Given the description of an element on the screen output the (x, y) to click on. 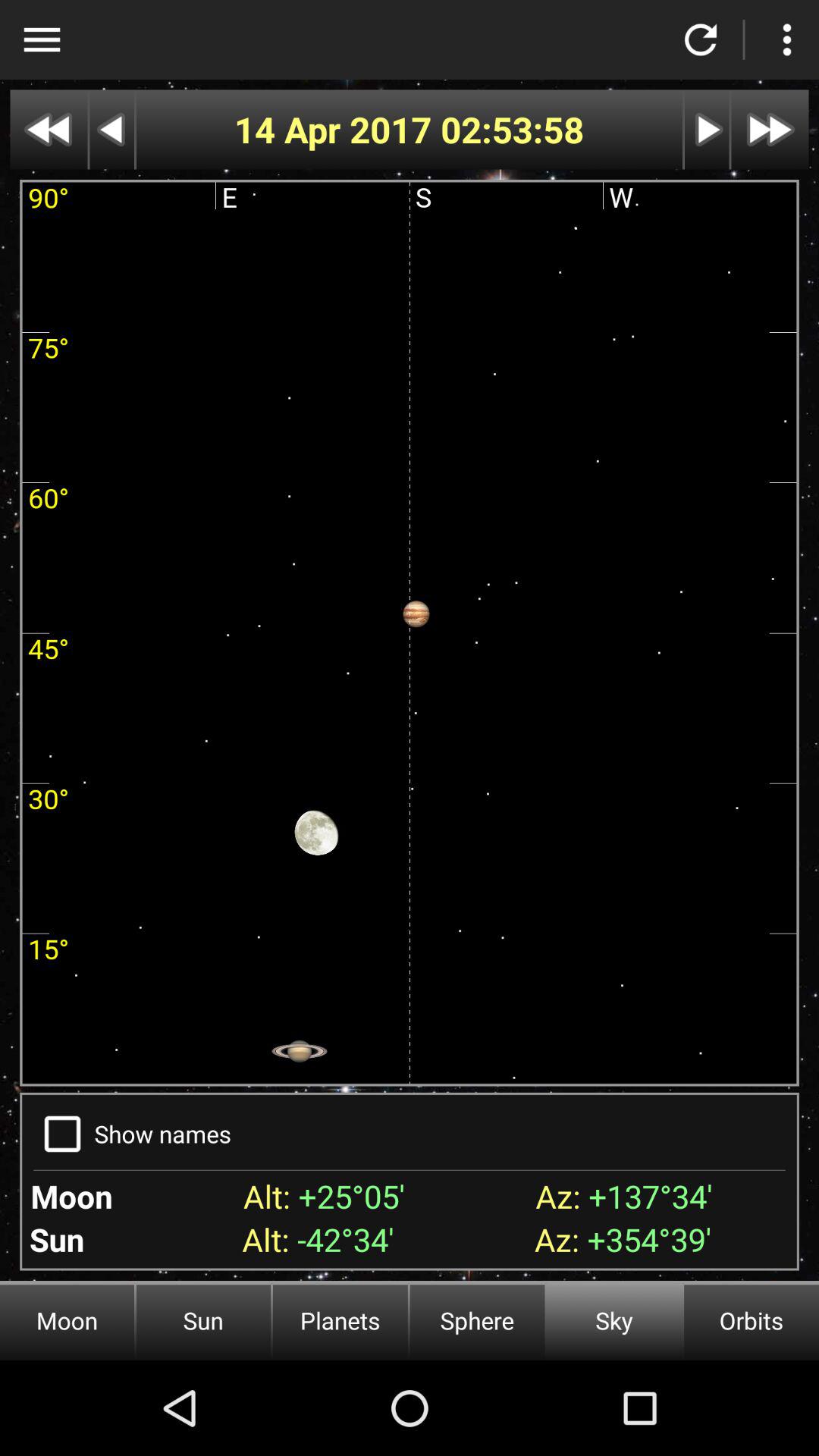
turn off the item to the right of 14 apr 2017  icon (512, 129)
